Given the description of an element on the screen output the (x, y) to click on. 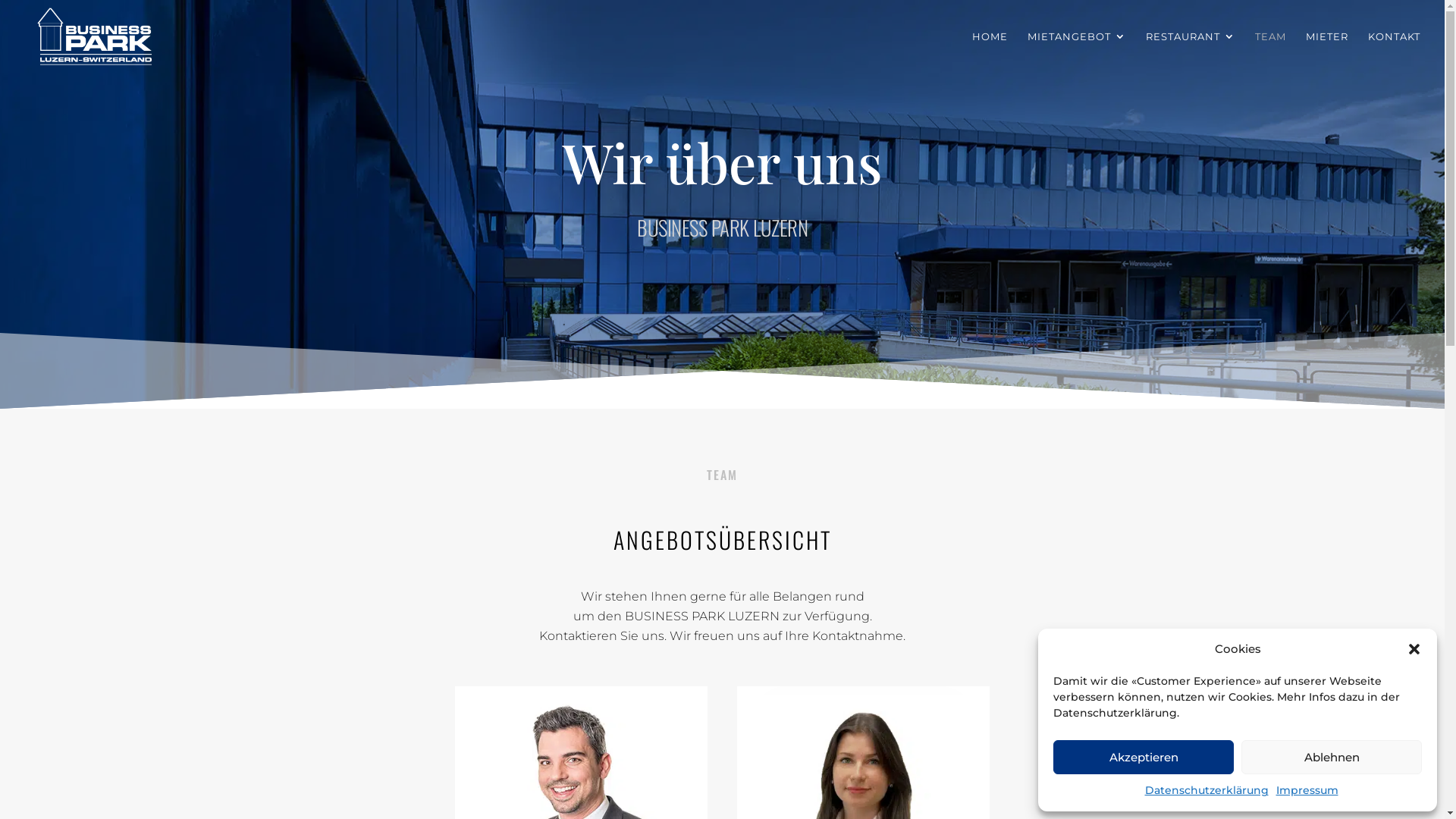
Ablehnen Element type: text (1331, 757)
Impressum Element type: text (1306, 790)
MIETANGEBOT Element type: text (1076, 51)
Akzeptieren Element type: text (1143, 757)
HOME Element type: text (989, 51)
MIETER Element type: text (1326, 51)
TEAM Element type: text (1270, 51)
RESTAURANT Element type: text (1190, 51)
KONTAKT Element type: text (1394, 51)
